Given the description of an element on the screen output the (x, y) to click on. 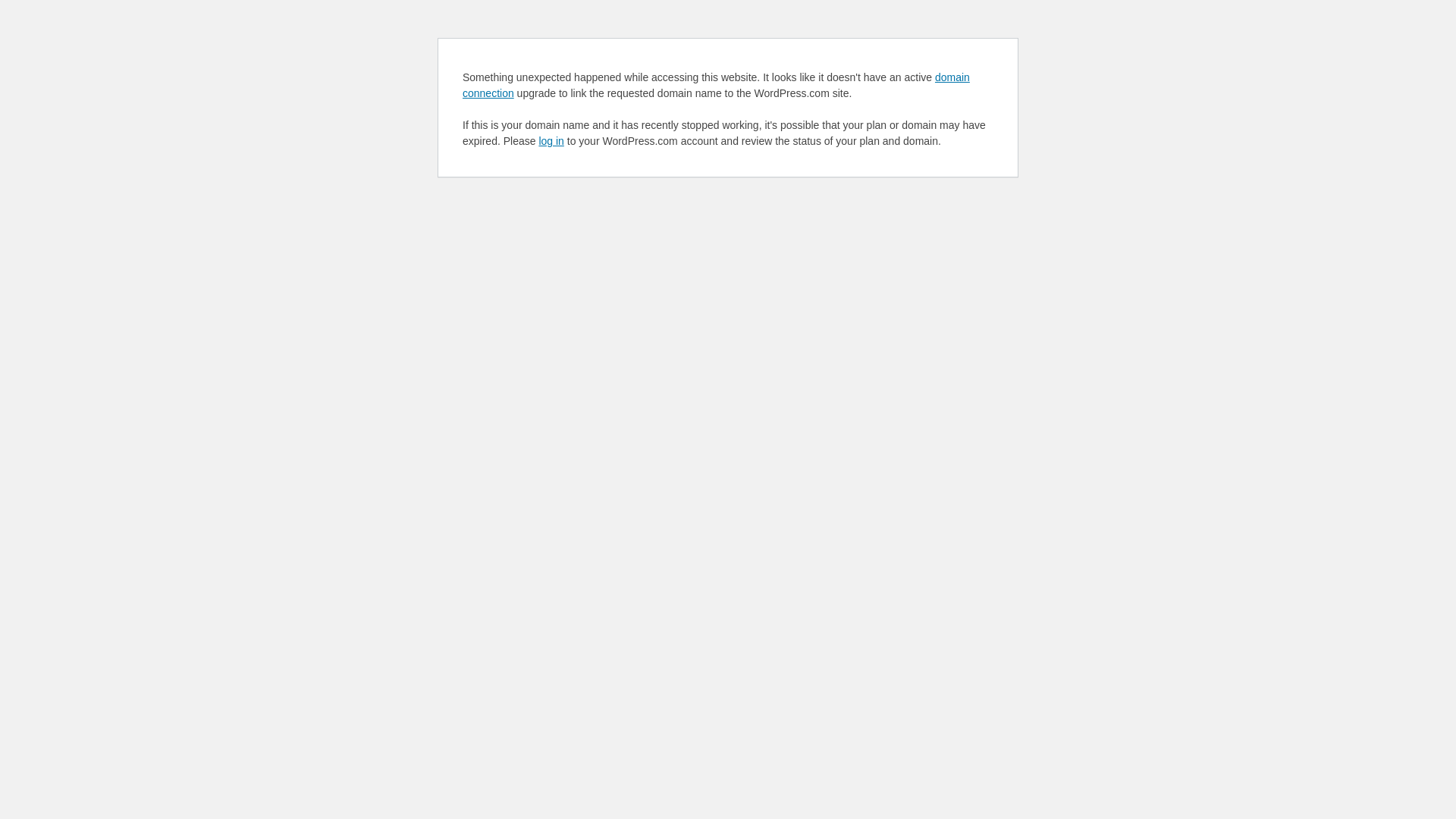
domain connection Element type: text (715, 85)
log in Element type: text (550, 140)
